Given the description of an element on the screen output the (x, y) to click on. 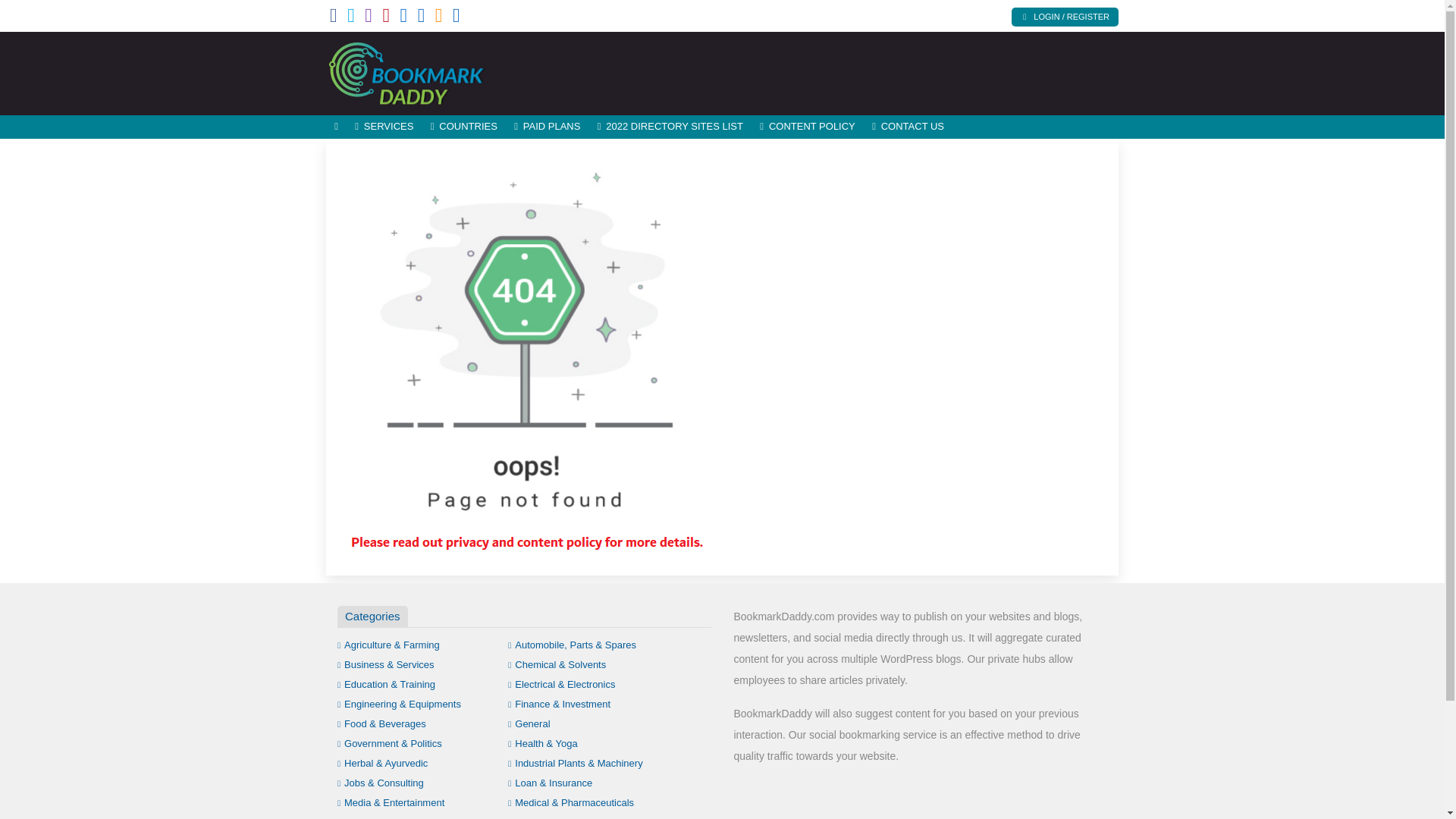
CONTENT POLICY (807, 126)
General (529, 723)
2022 DIRECTORY SITES LIST (670, 126)
SERVICES (384, 126)
PAID PLANS (547, 126)
CONTACT US (907, 126)
COUNTRIES (463, 126)
